Given the description of an element on the screen output the (x, y) to click on. 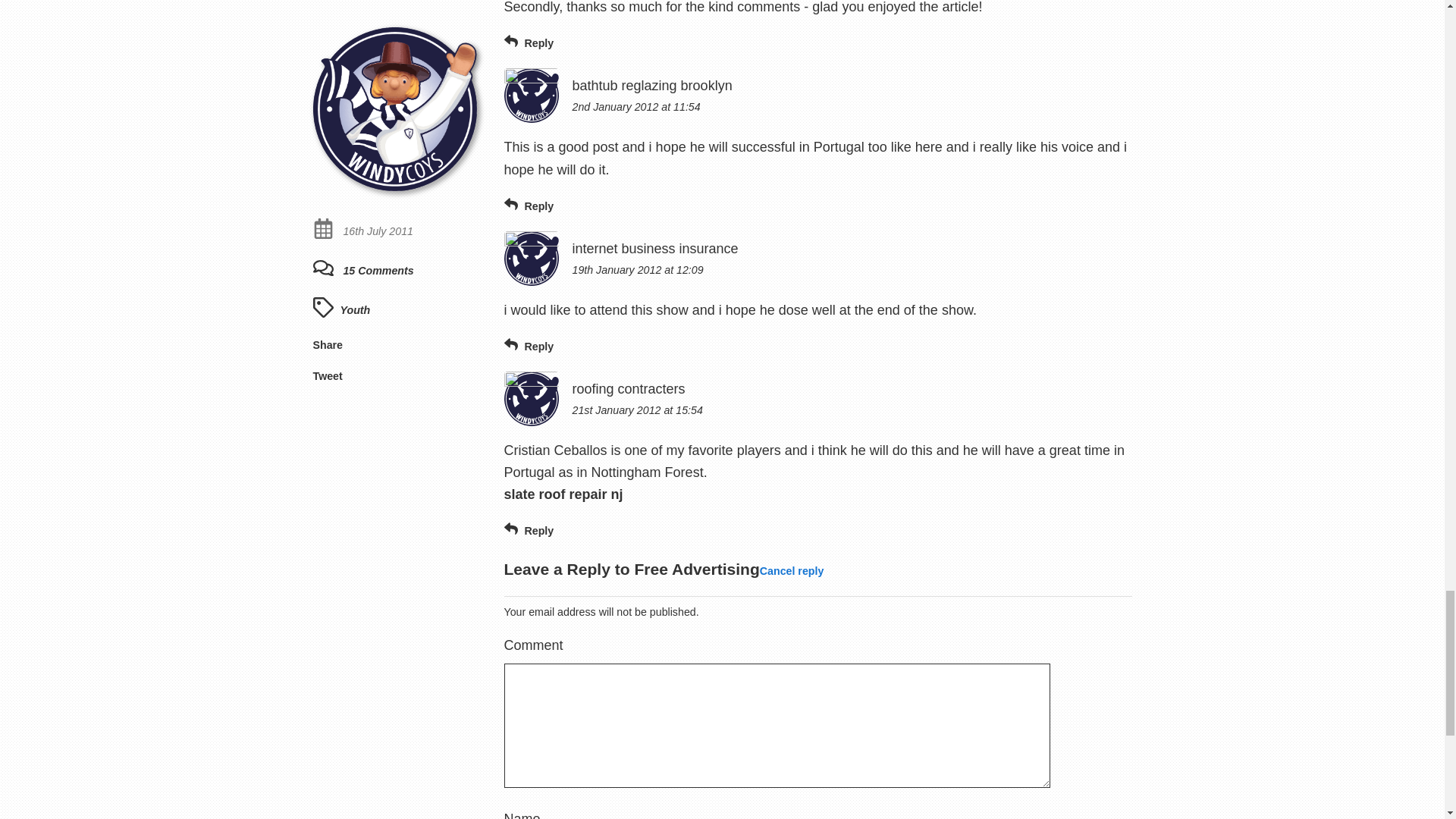
Reply (528, 345)
Free Advertising (695, 568)
Reply (528, 530)
Reply (528, 42)
slate roof repair nj (563, 494)
Cancel reply (792, 570)
Reply (528, 205)
